Given the description of an element on the screen output the (x, y) to click on. 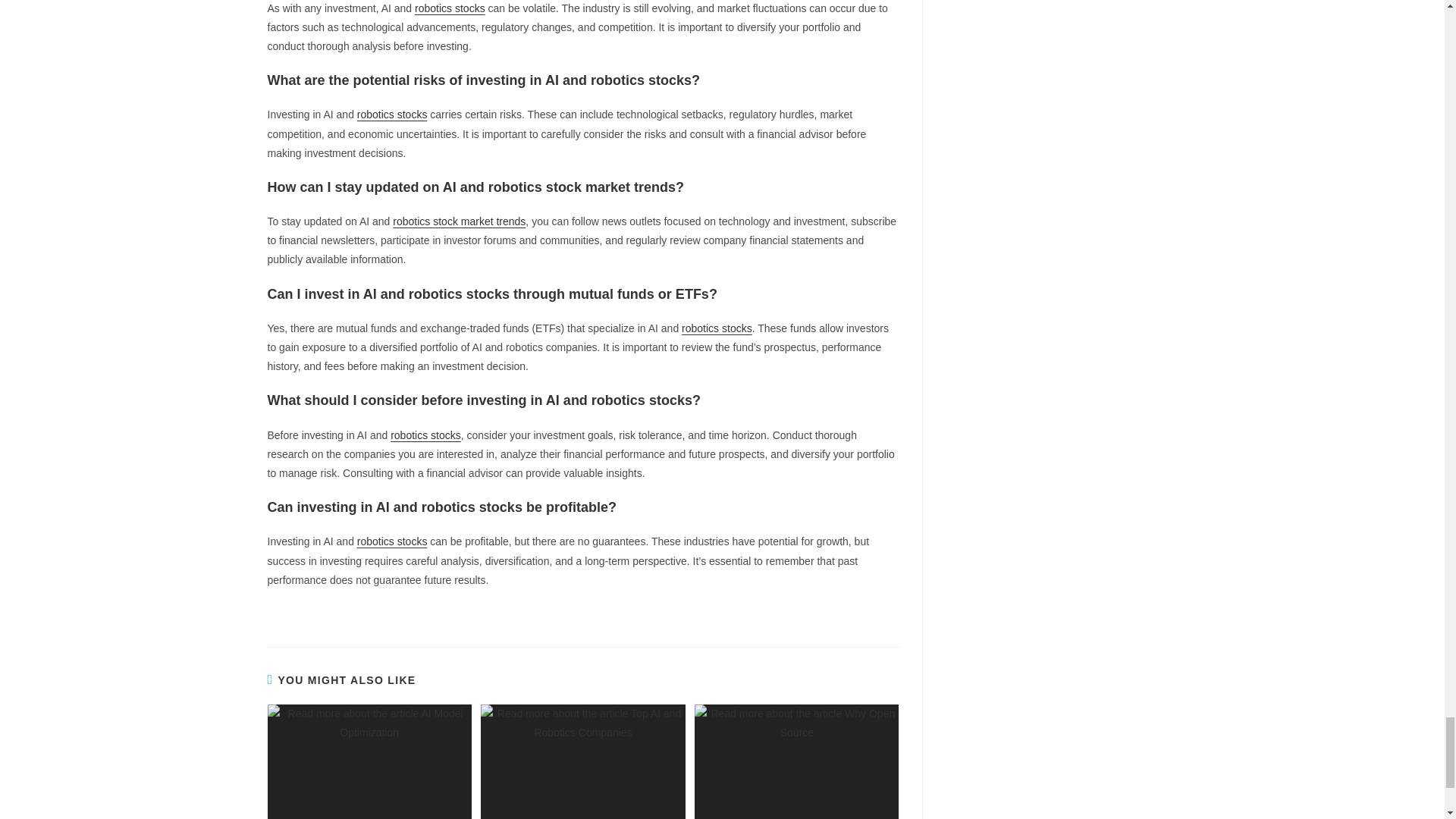
robotics stocks (449, 8)
robotics stock market trends (459, 221)
robotics stocks (392, 114)
